Given the description of an element on the screen output the (x, y) to click on. 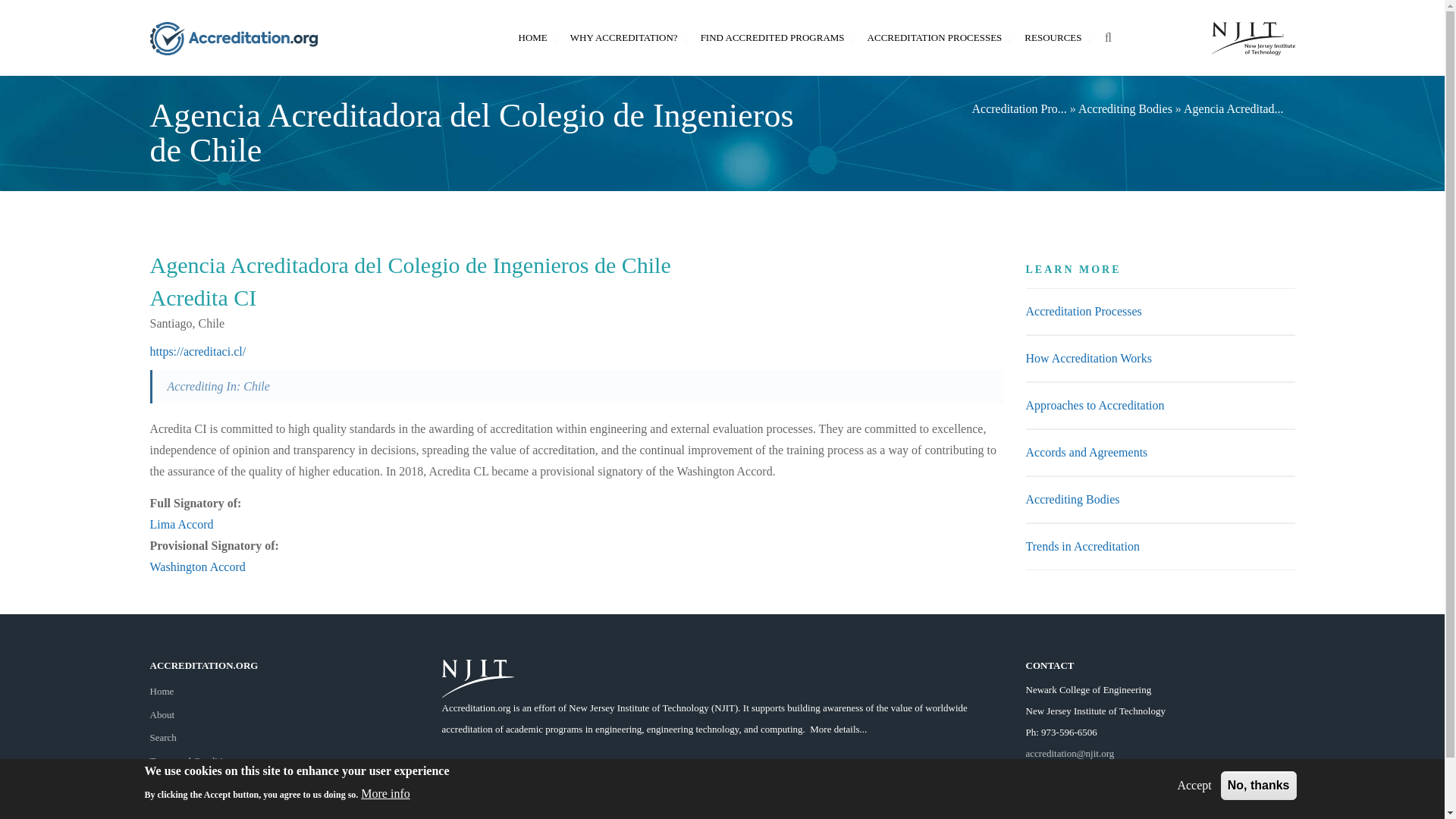
Accreditation Pro... (1018, 108)
WHY ACCREDITATION? (623, 38)
Accreditation Processes (1083, 310)
Home (161, 690)
Trends in Accreditation (1082, 545)
RESOURCES (1053, 38)
Agencia Acreditad... (1233, 108)
Accrediting Bodies (1072, 499)
Approaches to Accreditation (1094, 404)
Accrediting Bodies (1125, 108)
Contact Us (1070, 774)
Washington Accord (197, 566)
How Accreditation Works (1088, 358)
ACCREDITATION PROCESSES (934, 38)
